Given the description of an element on the screen output the (x, y) to click on. 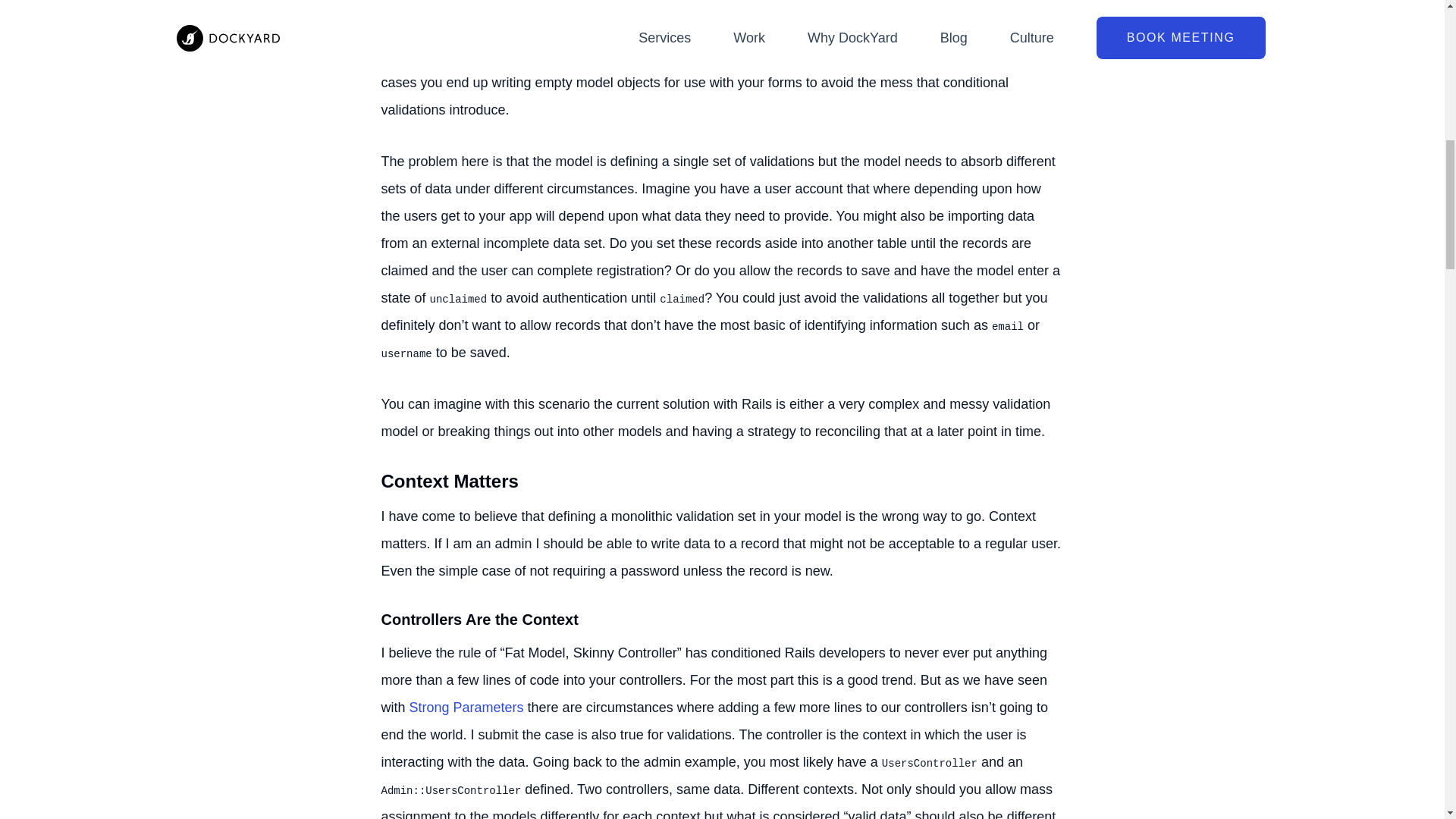
Strong Parameters (466, 707)
